Given the description of an element on the screen output the (x, y) to click on. 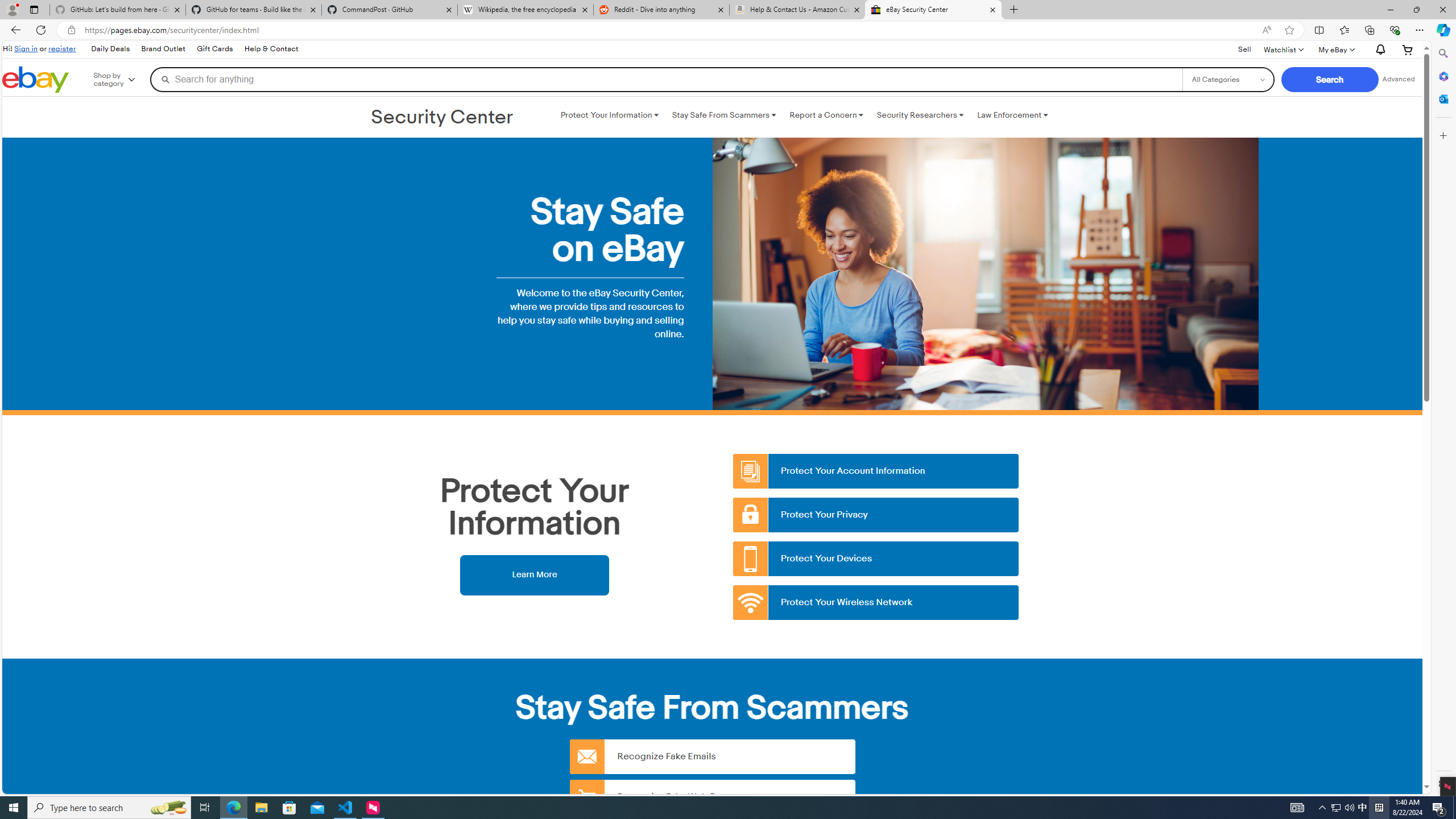
Notifications (1377, 49)
eBay Security Center (933, 9)
Stay Safe From Scammers  (723, 115)
Protect Your Account Information (876, 470)
Recognize Fake Emails (712, 756)
Security Researchers  (919, 115)
Protect Your Information  (608, 115)
Daily Deals (109, 49)
Help & Contact Us - Amazon Customer Service - Sleeping (797, 9)
eBay Home (35, 79)
Brand Outlet (162, 49)
My eBay (1335, 49)
Protect Your Privacy (876, 514)
